Given the description of an element on the screen output the (x, y) to click on. 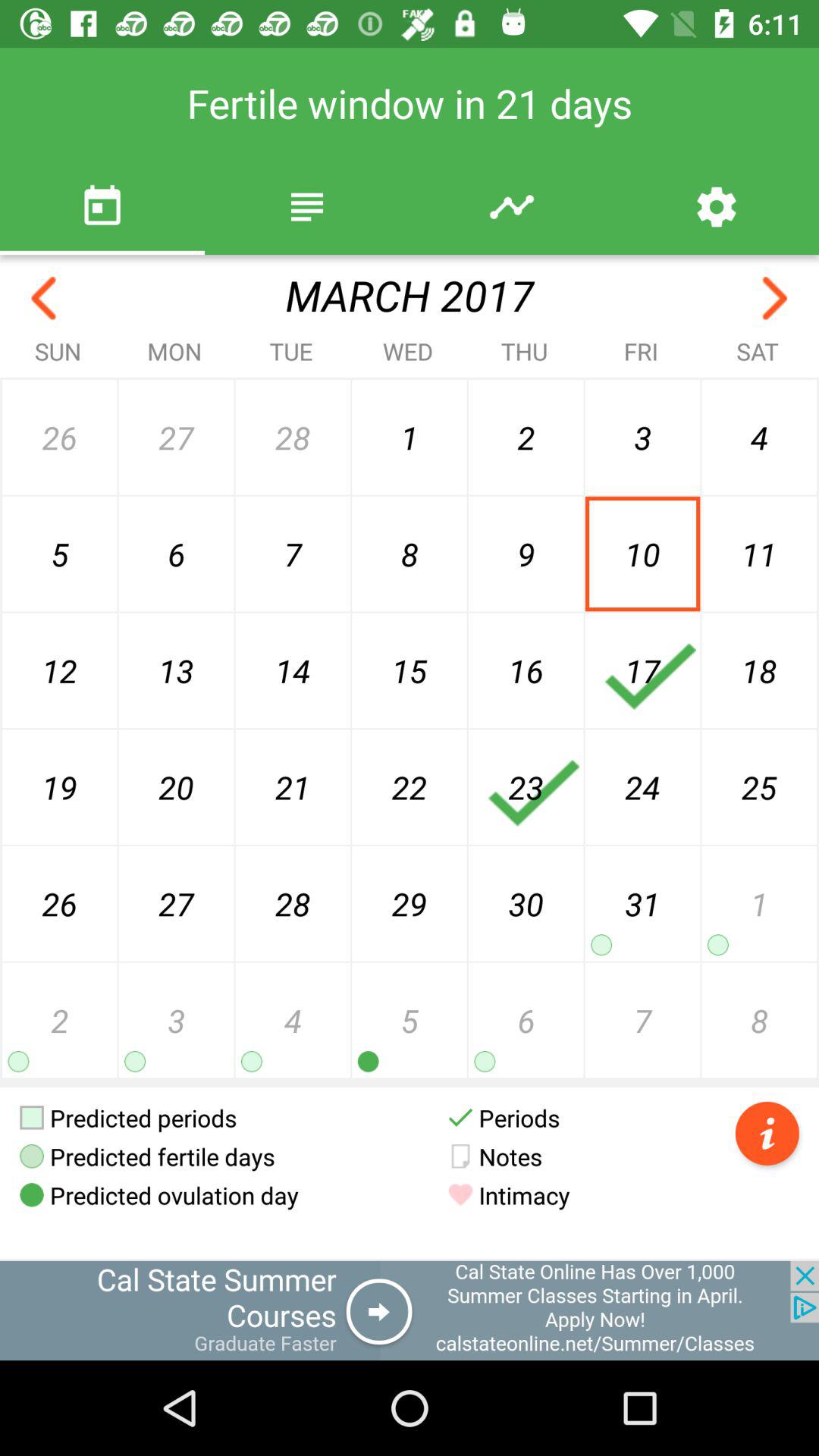
go to previous (775, 298)
